Given the description of an element on the screen output the (x, y) to click on. 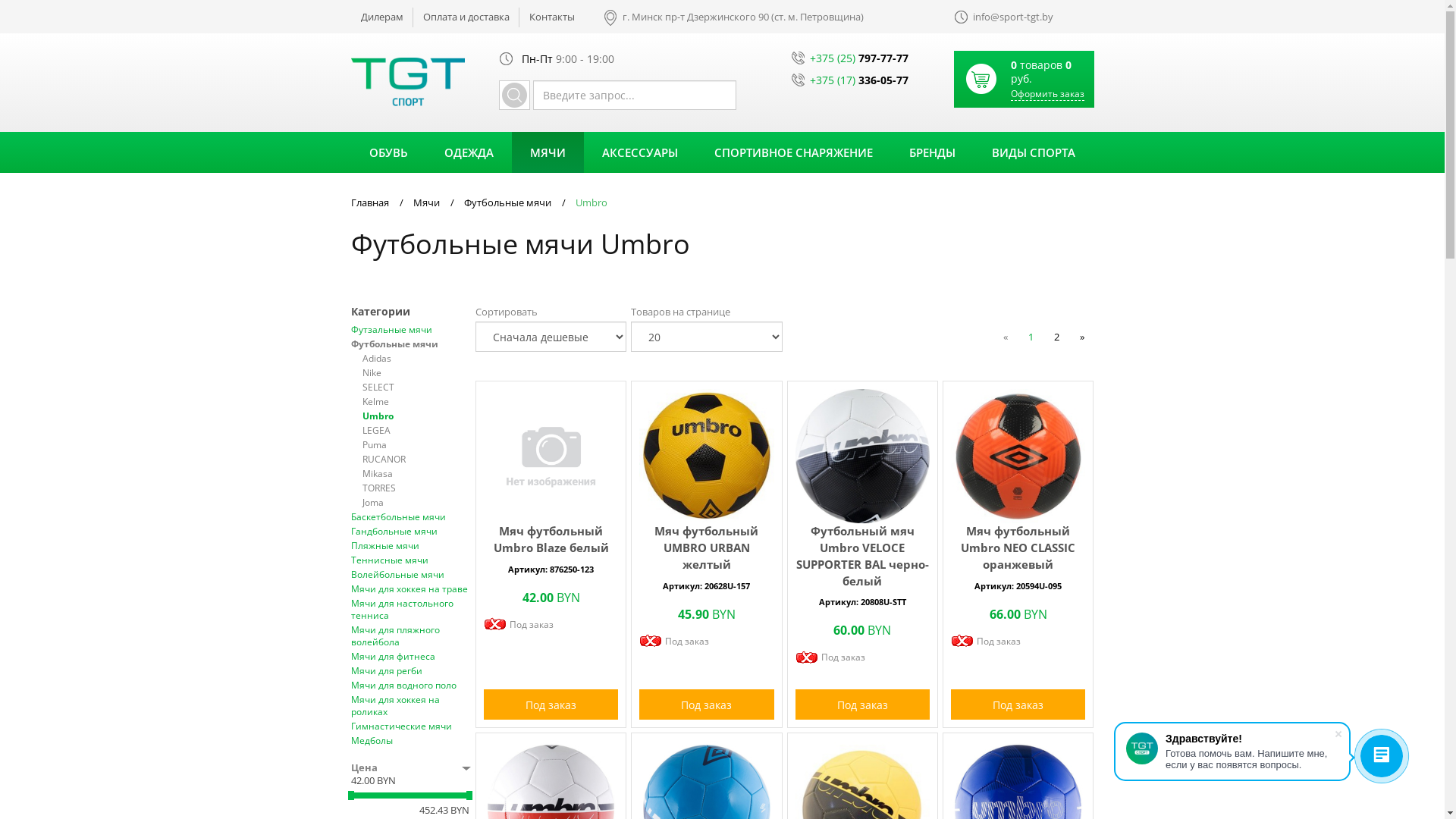
SELECT Element type: text (416, 387)
Kelme Element type: text (416, 401)
1 Element type: text (1030, 336)
LEGEA Element type: text (416, 430)
sport-tgt.by Element type: text (407, 82)
Joma Element type: text (416, 502)
info@sport-tgt.by Element type: text (1023, 11)
Nike Element type: text (416, 373)
Umbro Element type: text (416, 416)
Mikasa Element type: text (416, 473)
Puma Element type: text (416, 445)
TORRES Element type: text (416, 488)
Adidas Element type: text (416, 358)
RUCANOR Element type: text (416, 459)
2 Element type: text (1056, 336)
